Given the description of an element on the screen output the (x, y) to click on. 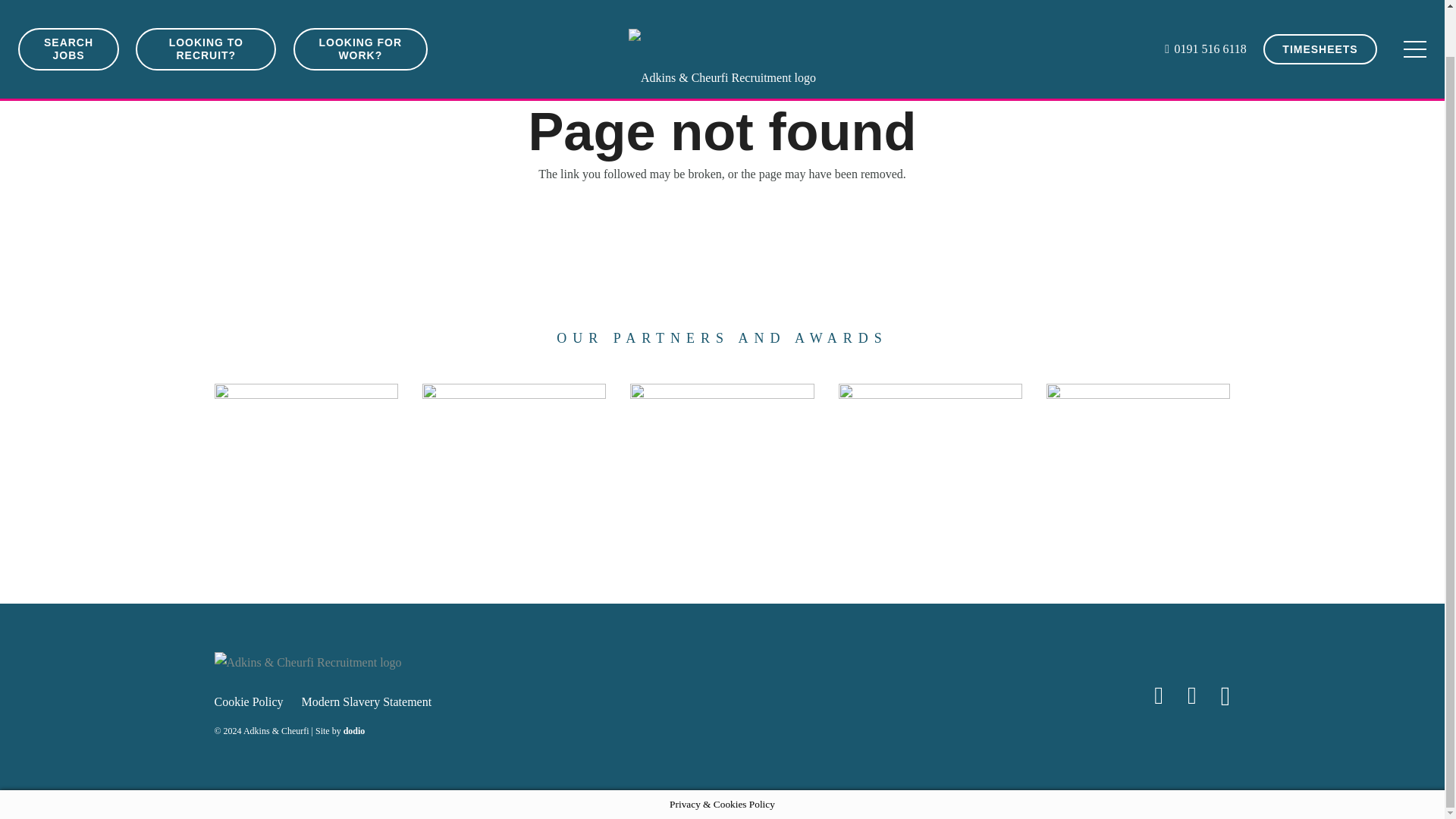
dodio (354, 730)
Modern Slavery Statement (366, 701)
TIMESHEETS (1320, 7)
SEARCH JOBS (68, 10)
0191 516 6118 (1205, 2)
Cookie Policy (248, 701)
LOOKING FOR WORK? (360, 10)
LOOKING TO RECRUIT? (205, 10)
